Given the description of an element on the screen output the (x, y) to click on. 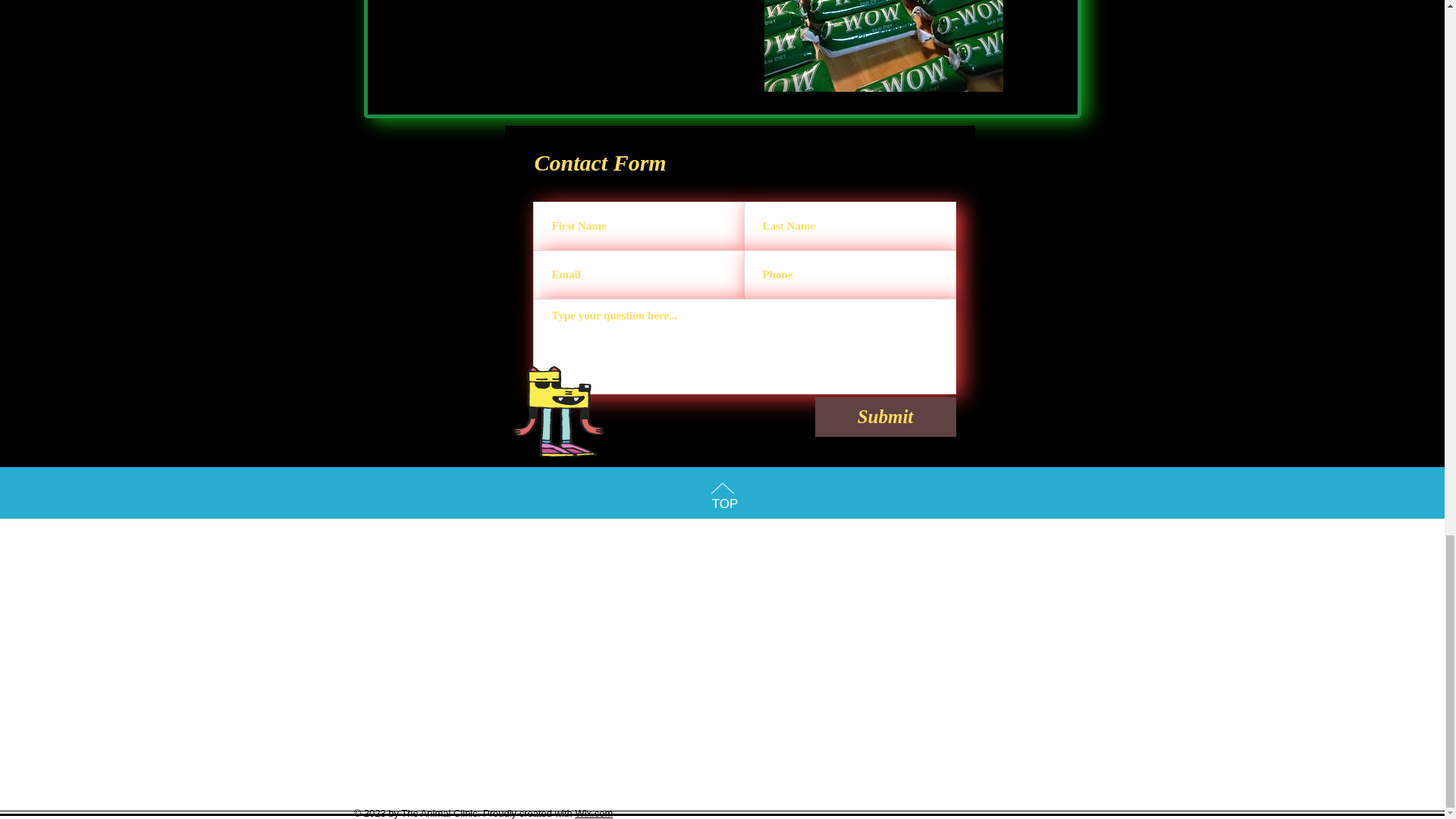
TOP (724, 503)
Submit (884, 416)
